Given the description of an element on the screen output the (x, y) to click on. 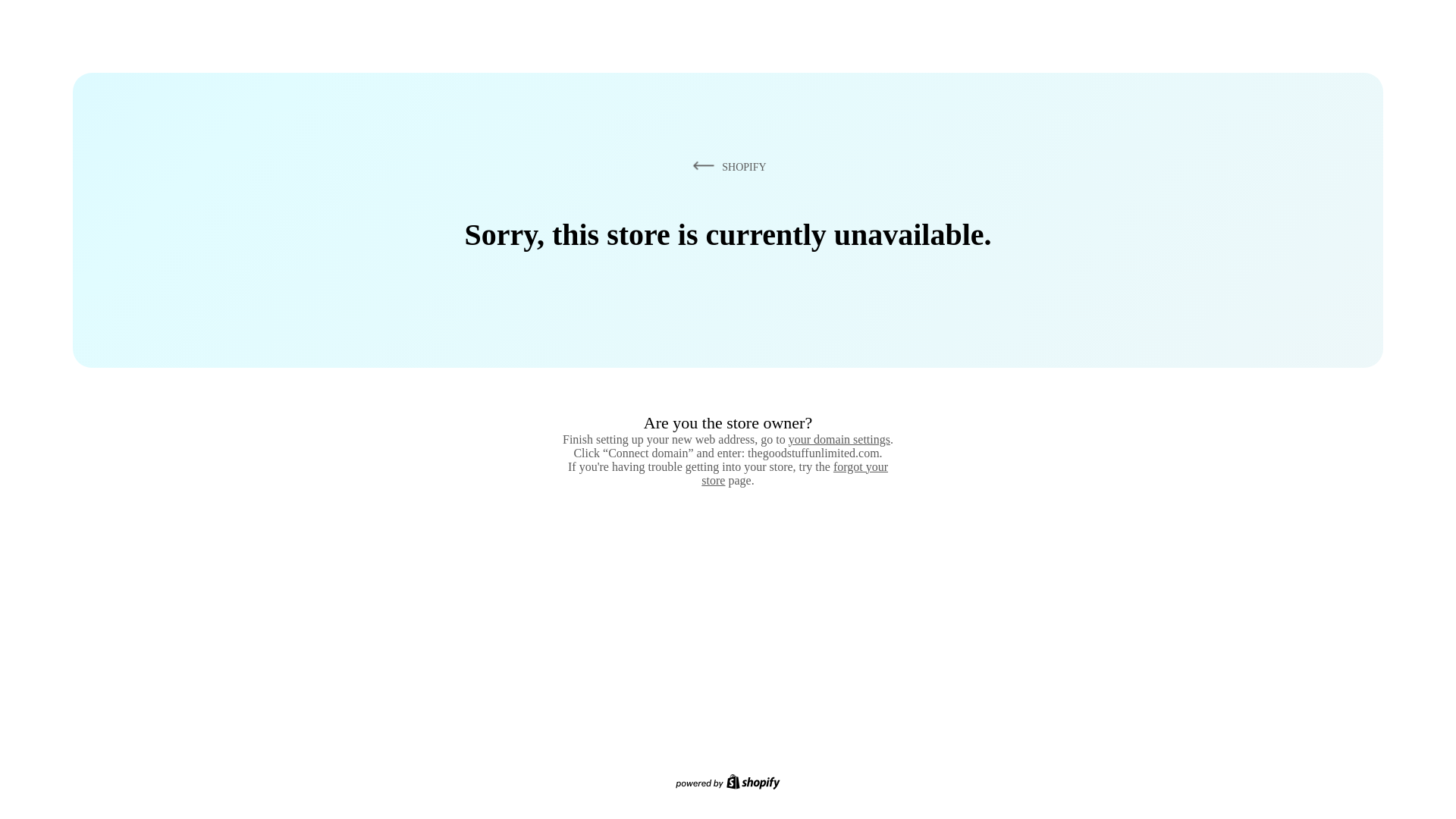
your domain settings (839, 439)
forgot your store (794, 473)
SHOPIFY (726, 166)
